Given the description of an element on the screen output the (x, y) to click on. 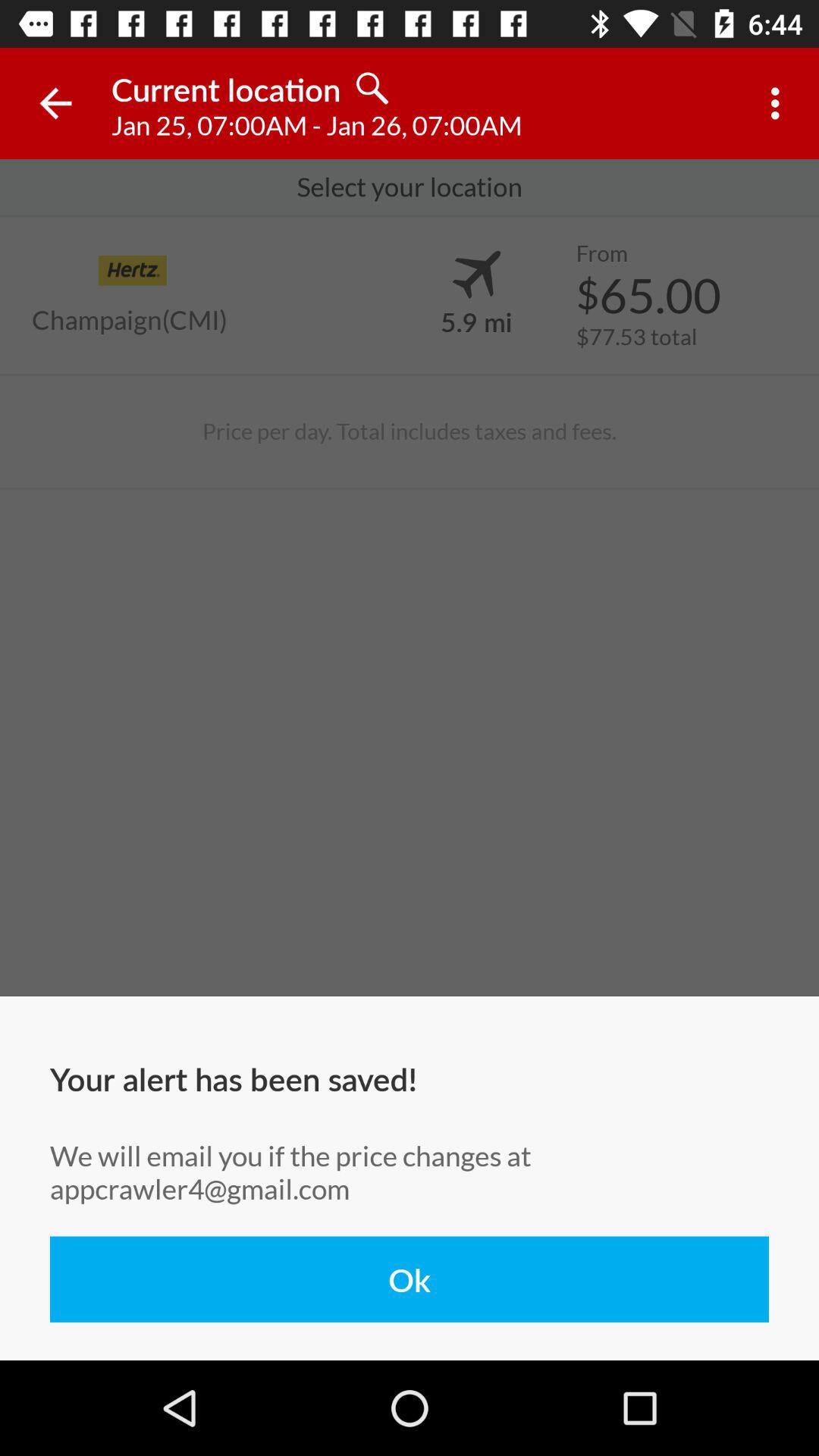
click the item next to the current location (55, 103)
